Given the description of an element on the screen output the (x, y) to click on. 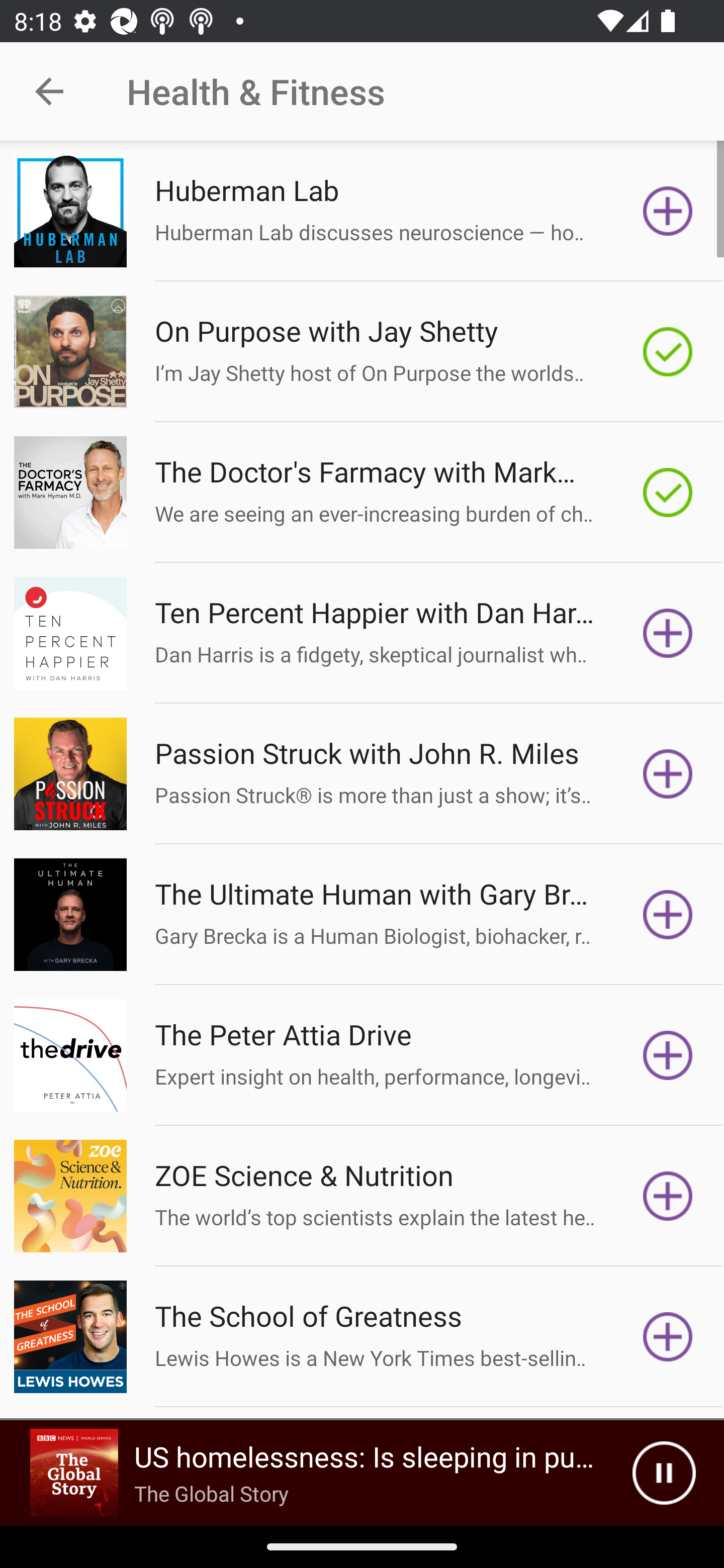
Navigate up (49, 91)
Subscribe (667, 211)
Subscribed (667, 350)
Subscribed (667, 491)
Subscribe (667, 633)
Subscribe (667, 773)
Subscribe (667, 913)
Subscribe (667, 1054)
Subscribe (667, 1195)
Subscribe (667, 1336)
Pause (663, 1472)
